Given the description of an element on the screen output the (x, y) to click on. 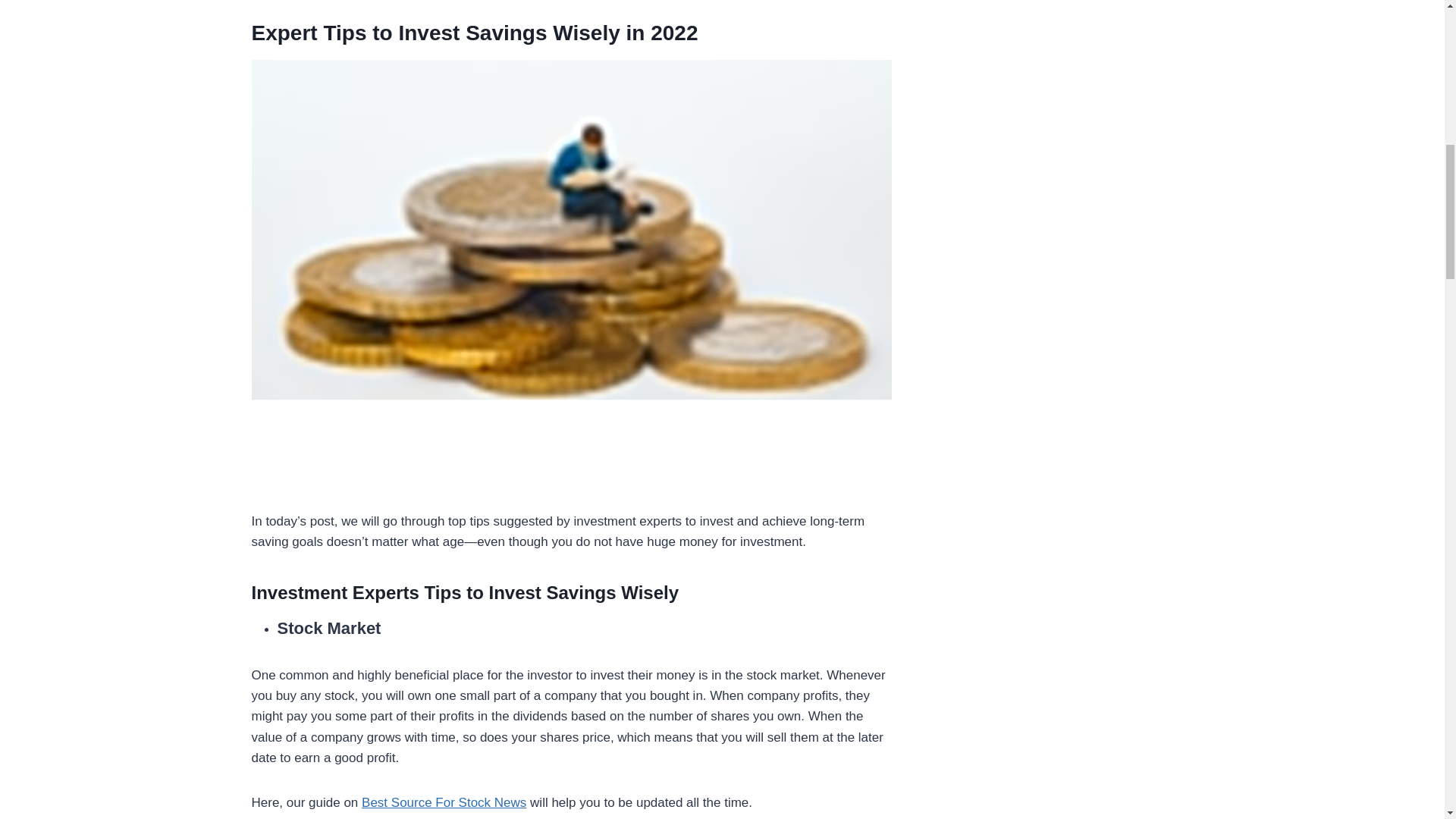
Best Source For Stock News (443, 802)
